Given the description of an element on the screen output the (x, y) to click on. 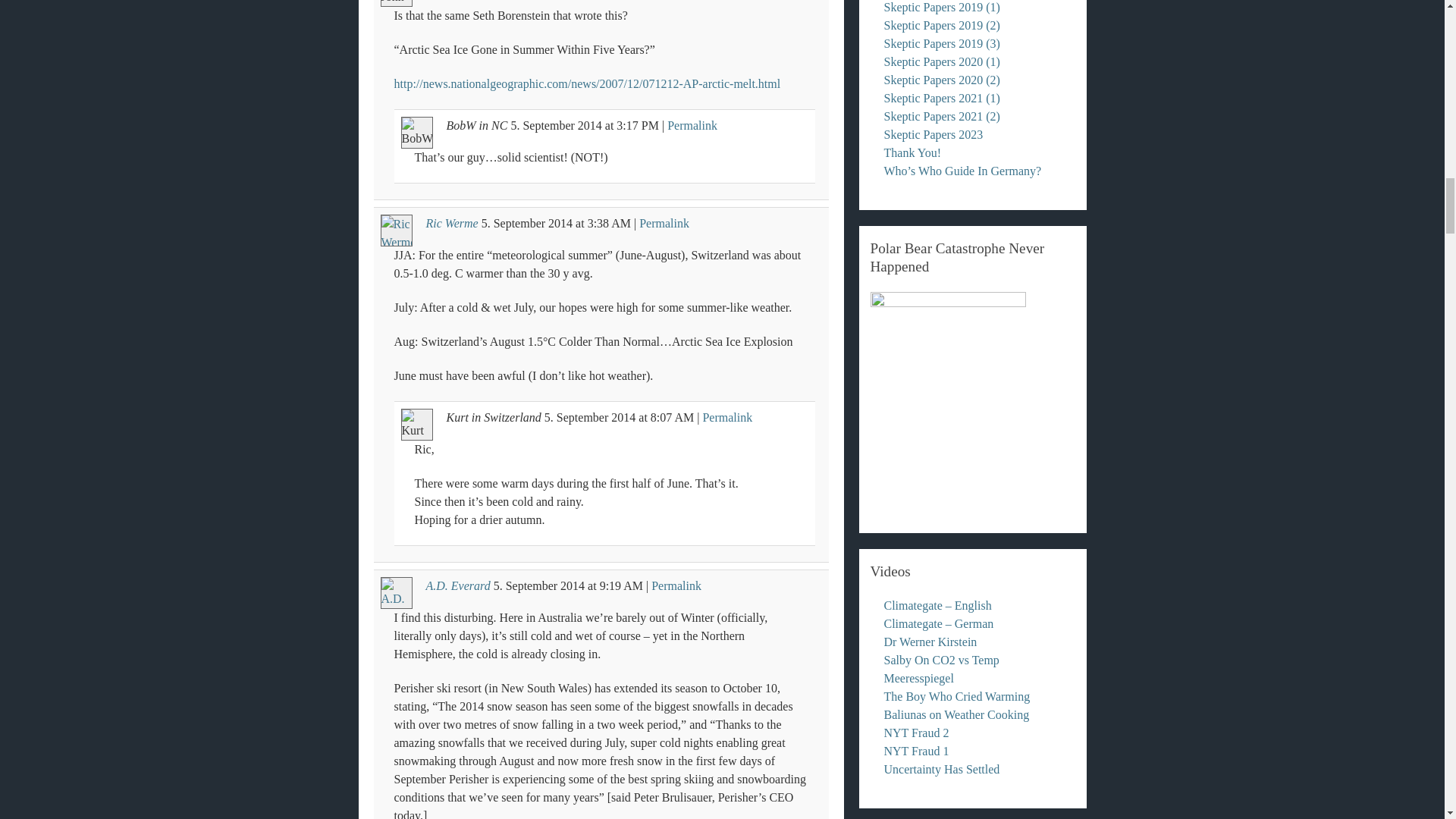
Permalink (663, 223)
Permalink (726, 417)
Ric Werme (452, 223)
Permalink (691, 124)
Permalink (675, 585)
A.D. Everard (458, 585)
